Given the description of an element on the screen output the (x, y) to click on. 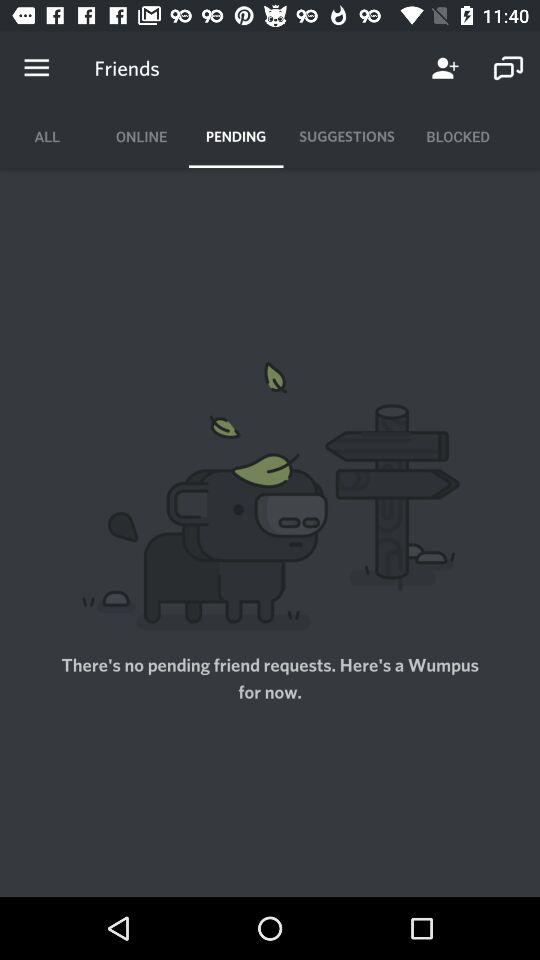
tap the item above the all icon (36, 68)
